Given the description of an element on the screen output the (x, y) to click on. 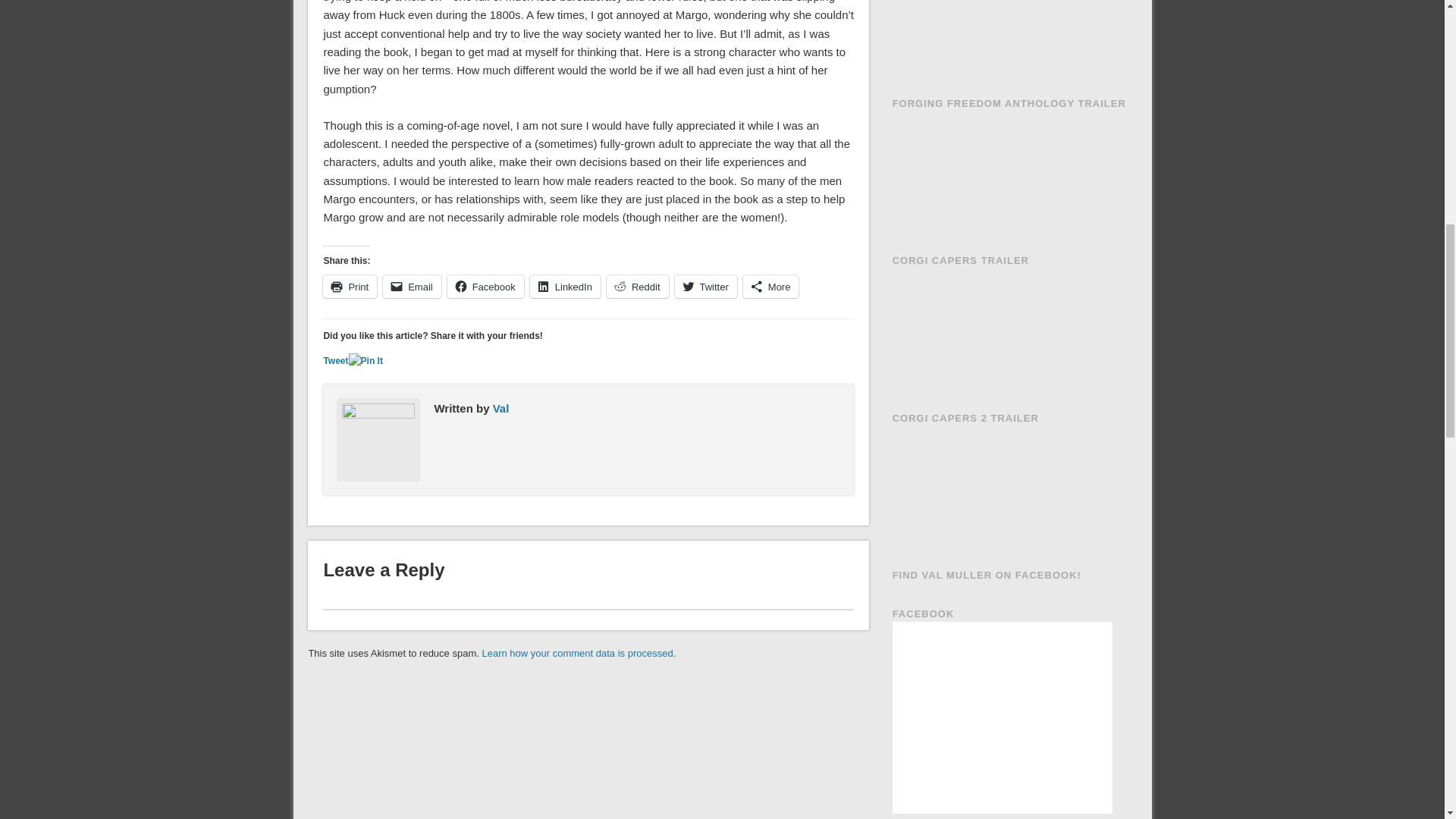
Facebook Members WordPress Plugin (962, 817)
Email (411, 286)
Pin It (365, 360)
More (770, 286)
Click to print (350, 286)
Facebook Members WordPress Plugin (962, 817)
LinkedIn (564, 286)
Val (501, 408)
Click to email a link to a friend (411, 286)
Print (350, 286)
Twitter (705, 286)
Tweet (335, 360)
Facebook (485, 286)
Click to share on Twitter (705, 286)
Learn how your comment data is processed (576, 653)
